Given the description of an element on the screen output the (x, y) to click on. 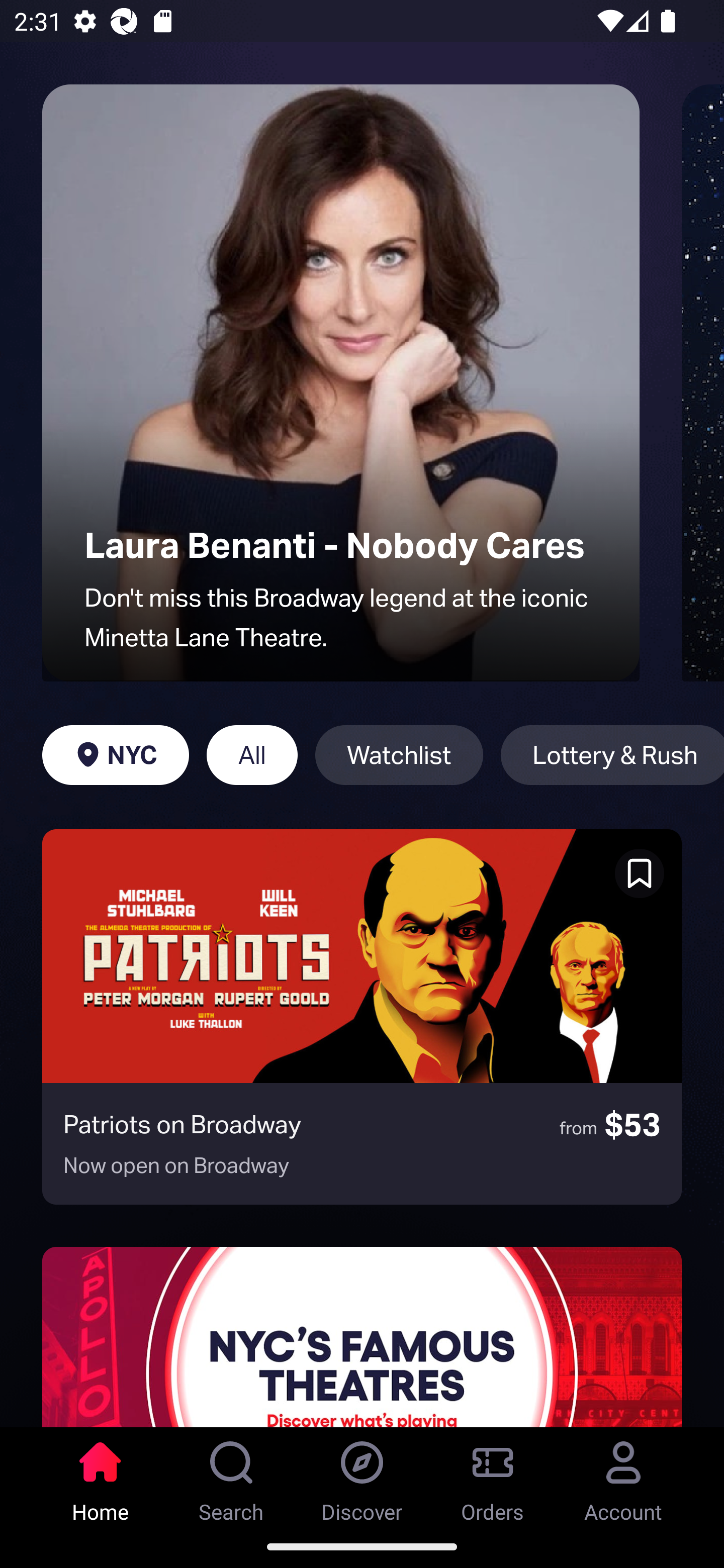
NYC (114, 754)
All (251, 754)
Watchlist (398, 754)
Lottery & Rush (612, 754)
Patriots on Broadway from $53 Now open on Broadway (361, 1016)
Search (230, 1475)
Discover (361, 1475)
Orders (492, 1475)
Account (623, 1475)
